Given the description of an element on the screen output the (x, y) to click on. 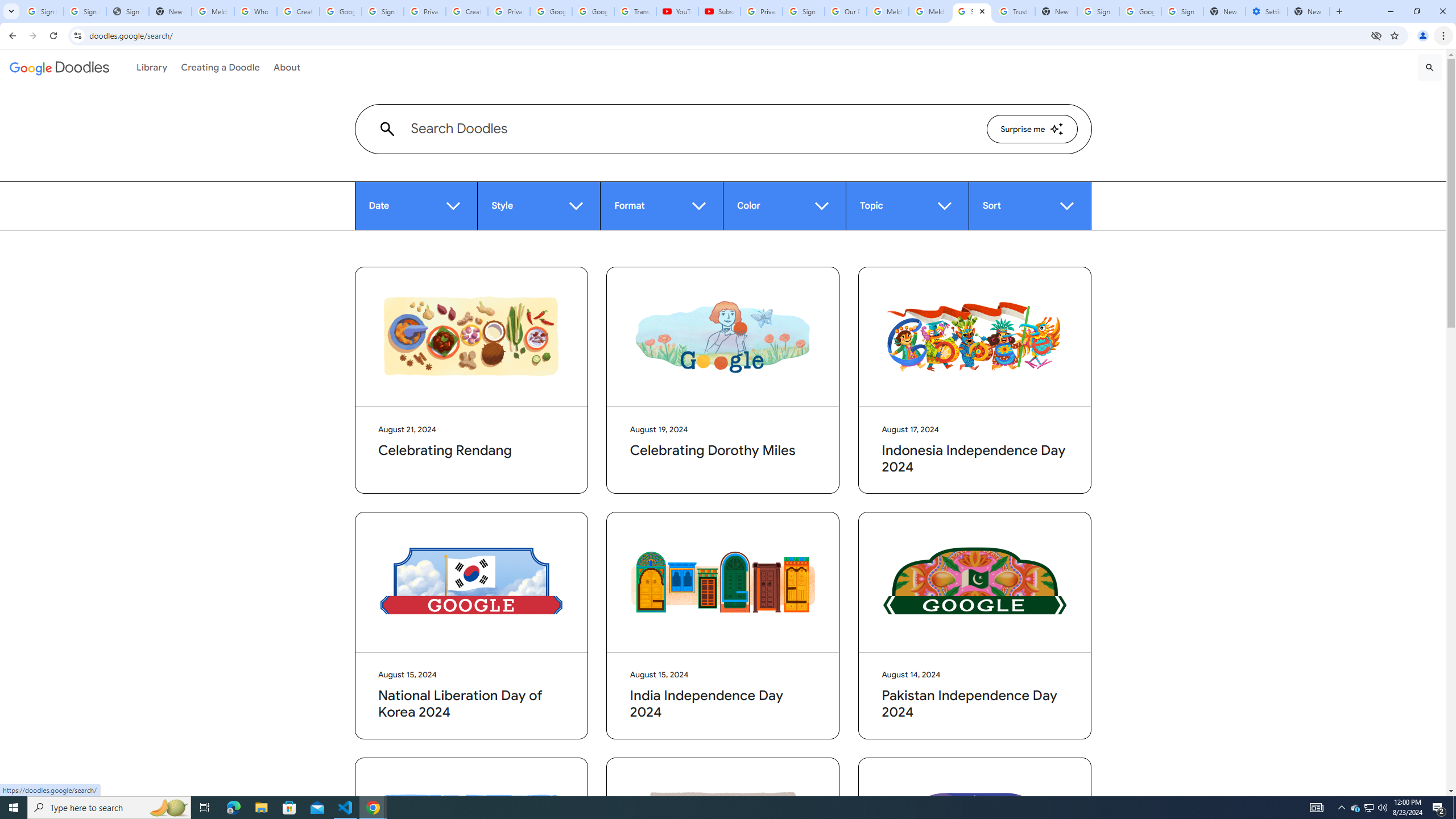
Library (151, 67)
Format (660, 205)
Subscriptions - YouTube (719, 11)
Trusted Information and Content - Google Safety Center (1013, 11)
Sign in - Google Accounts (803, 11)
New Tab (1308, 11)
Sort (1030, 205)
Create your Google Account (298, 11)
Google Account (592, 11)
